Given the description of an element on the screen output the (x, y) to click on. 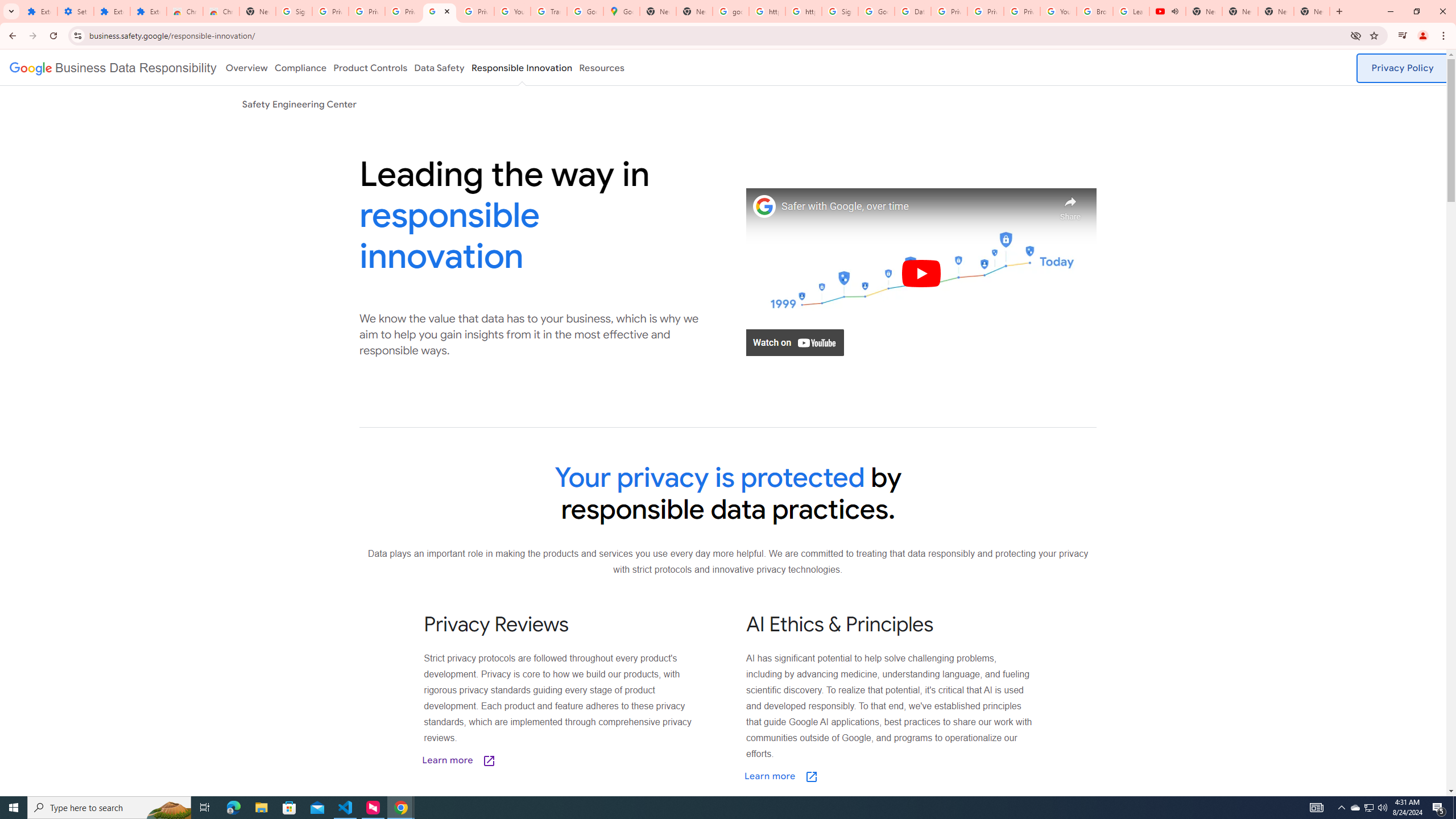
Extensions (111, 11)
Third-party cookies blocked (1355, 35)
Safety Engineering Center (299, 103)
YouTube (1058, 11)
Address and search bar (715, 35)
Safer with Google, over time (916, 206)
Responsible Innovation (521, 67)
Compliance (300, 67)
Play (921, 273)
Browse Chrome as a guest - Computer - Google Chrome Help (1094, 11)
View site information (77, 35)
Back (10, 35)
Photo image of Google (764, 205)
